Given the description of an element on the screen output the (x, y) to click on. 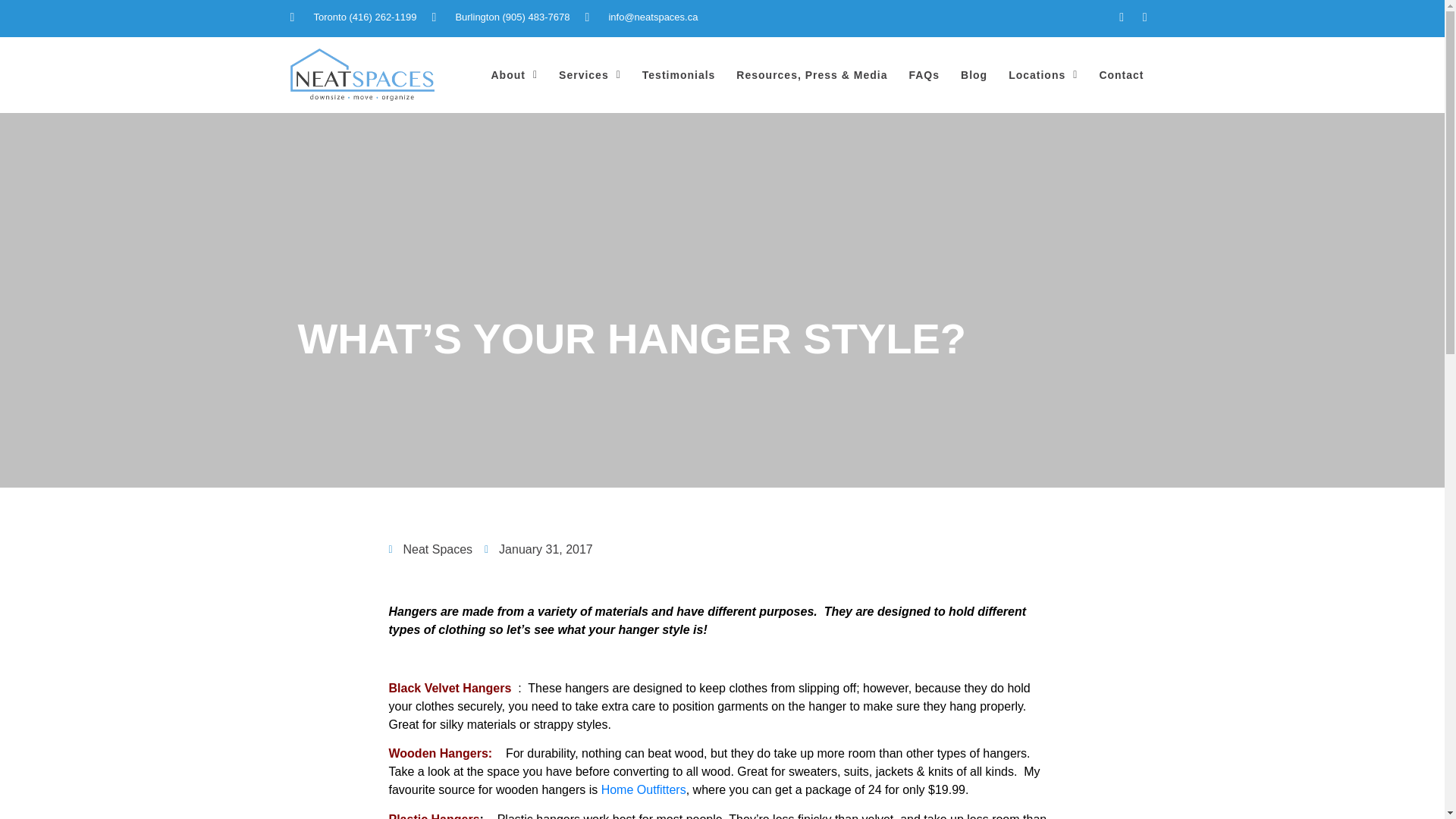
Services (589, 74)
Testimonials (678, 74)
Blog (973, 74)
About (514, 74)
FAQs (924, 74)
Contact (1120, 74)
Locations (1042, 74)
